Given the description of an element on the screen output the (x, y) to click on. 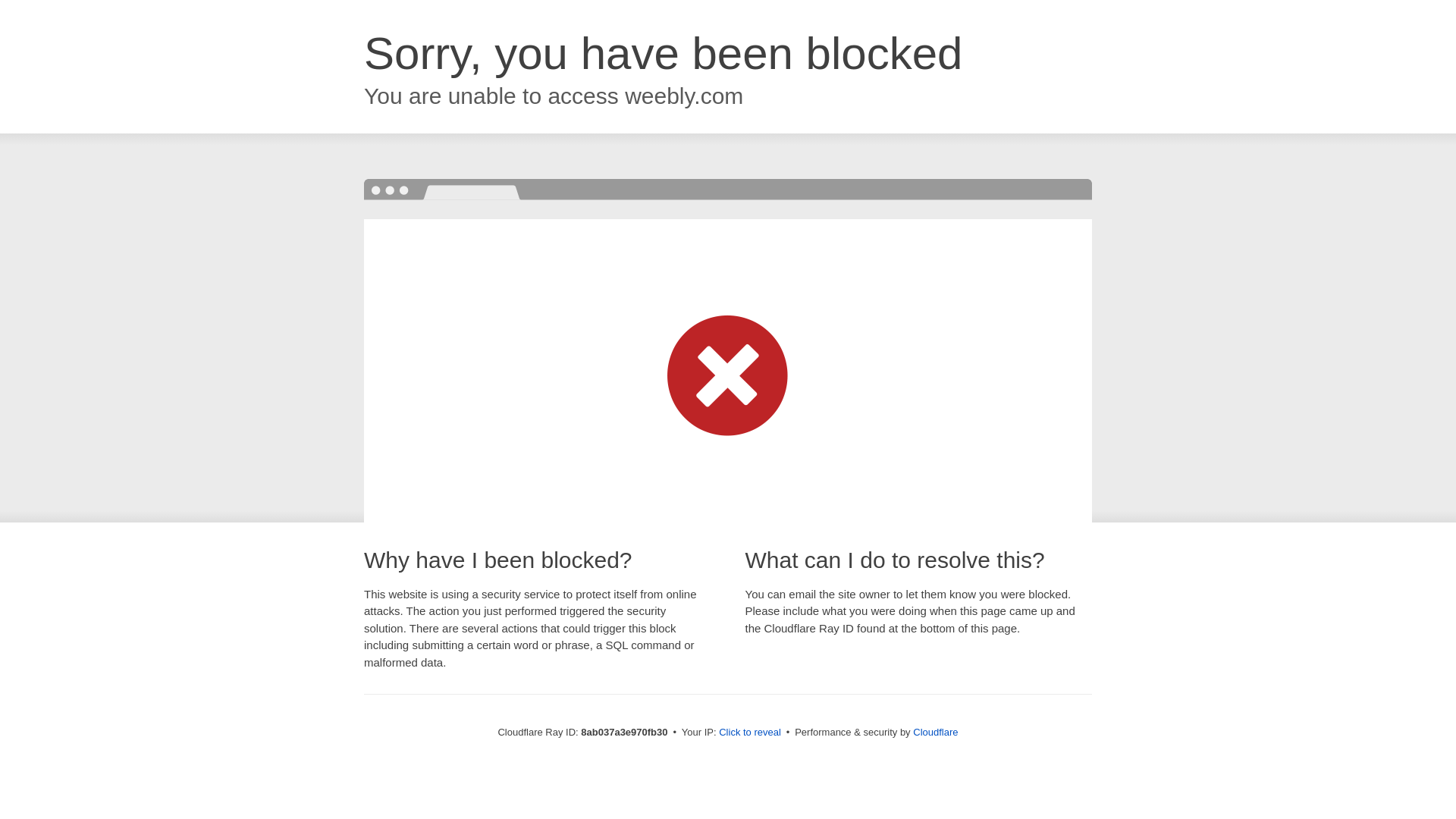
Click to reveal (749, 732)
Cloudflare (935, 731)
